Given the description of an element on the screen output the (x, y) to click on. 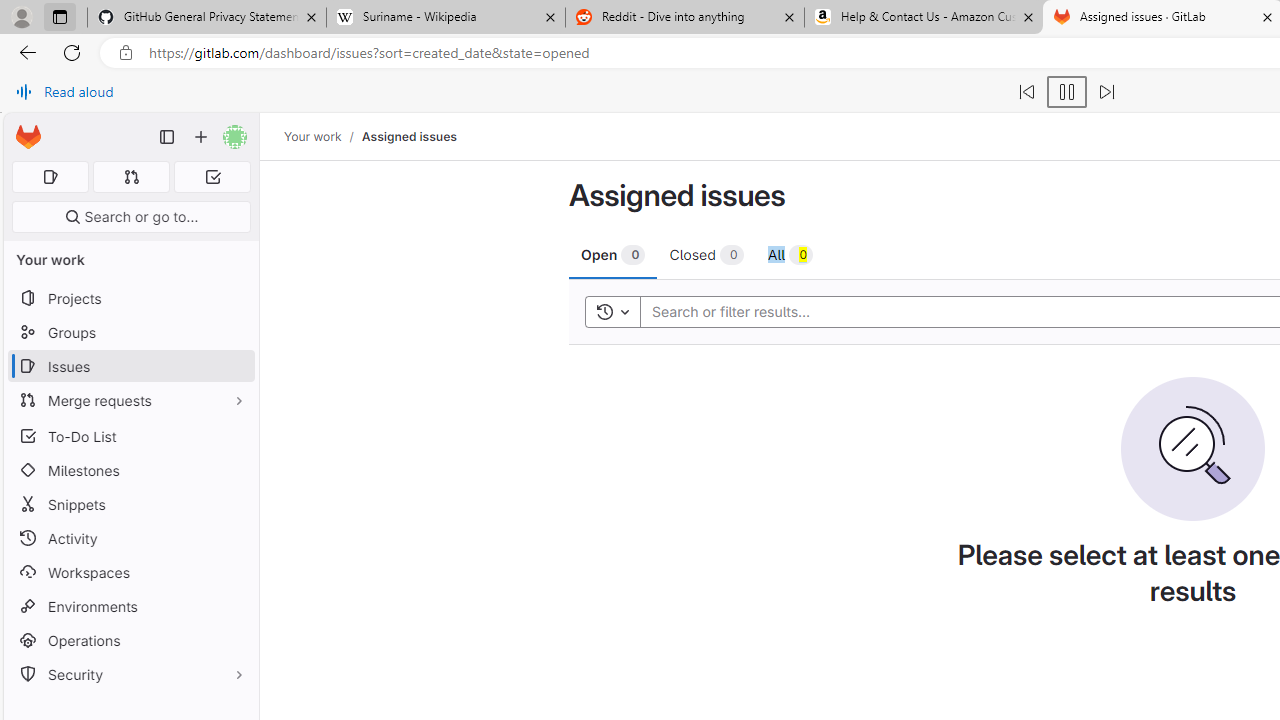
To-Do List (130, 435)
Create new... (201, 137)
Primary navigation sidebar (167, 137)
Security (130, 674)
Snippets (130, 504)
Activity (130, 538)
Milestones (130, 470)
Open 0 (613, 254)
To-Do list 0 (212, 177)
Issues (130, 366)
Your work (312, 136)
